Given the description of an element on the screen output the (x, y) to click on. 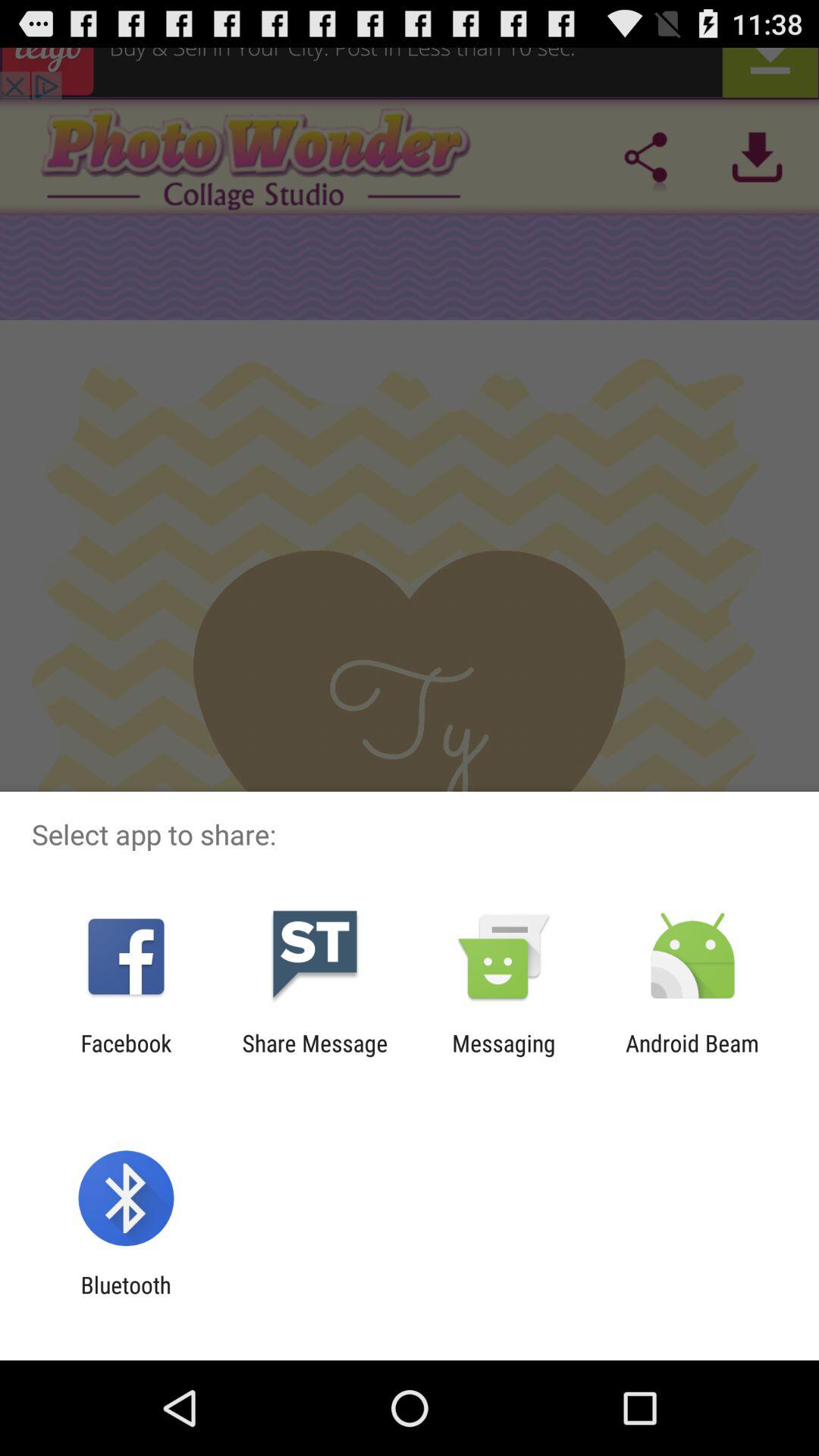
choose facebook item (125, 1056)
